Given the description of an element on the screen output the (x, y) to click on. 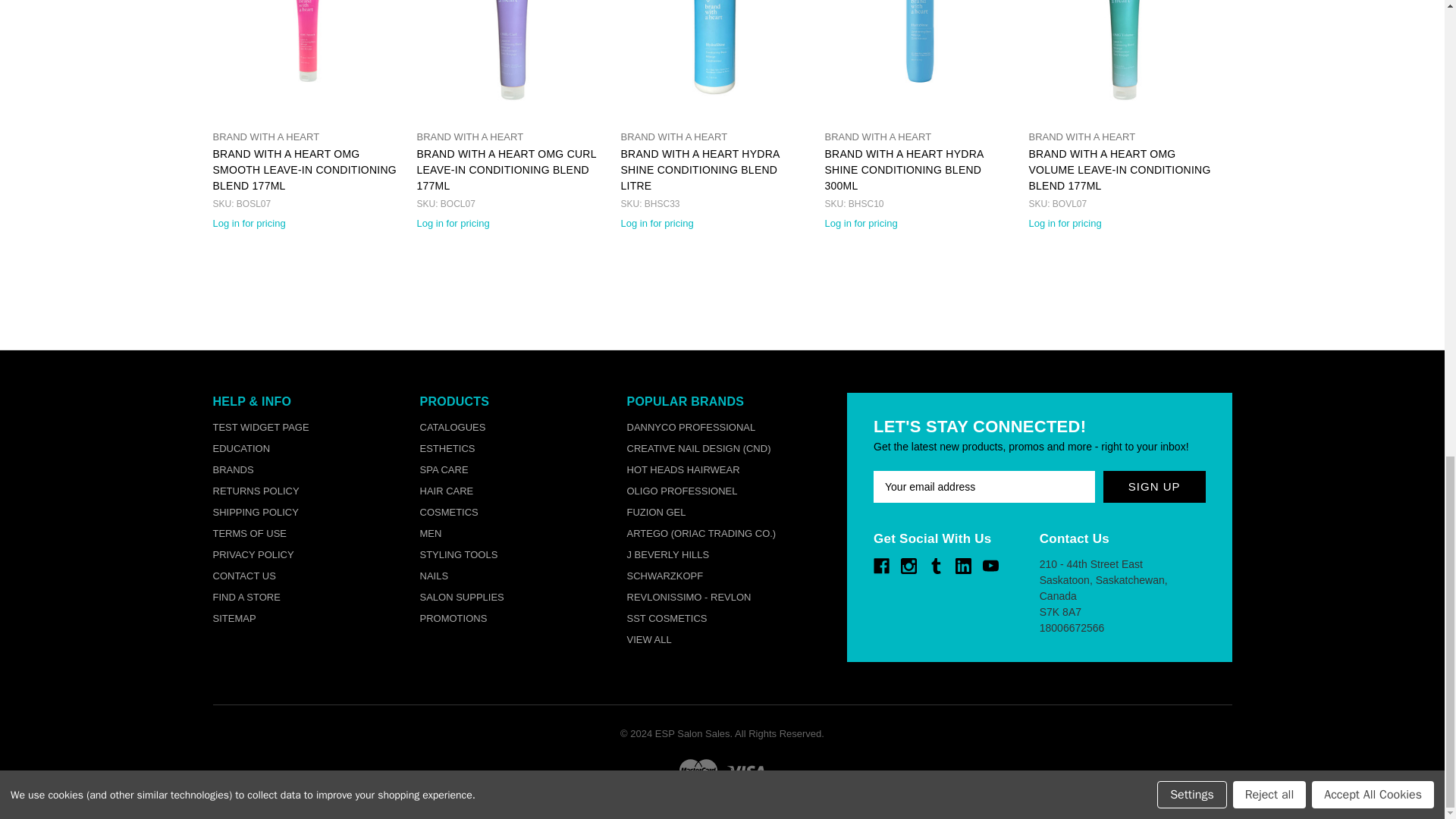
Sign Up (1154, 486)
BRAND WITH A HEART HYDRA SHINE CONDITIONING BLEND 300ML (918, 48)
BRAND WITH A HEART HYDRA SHINE CONDITIONING BLEND LITRE (714, 48)
